Given the description of an element on the screen output the (x, y) to click on. 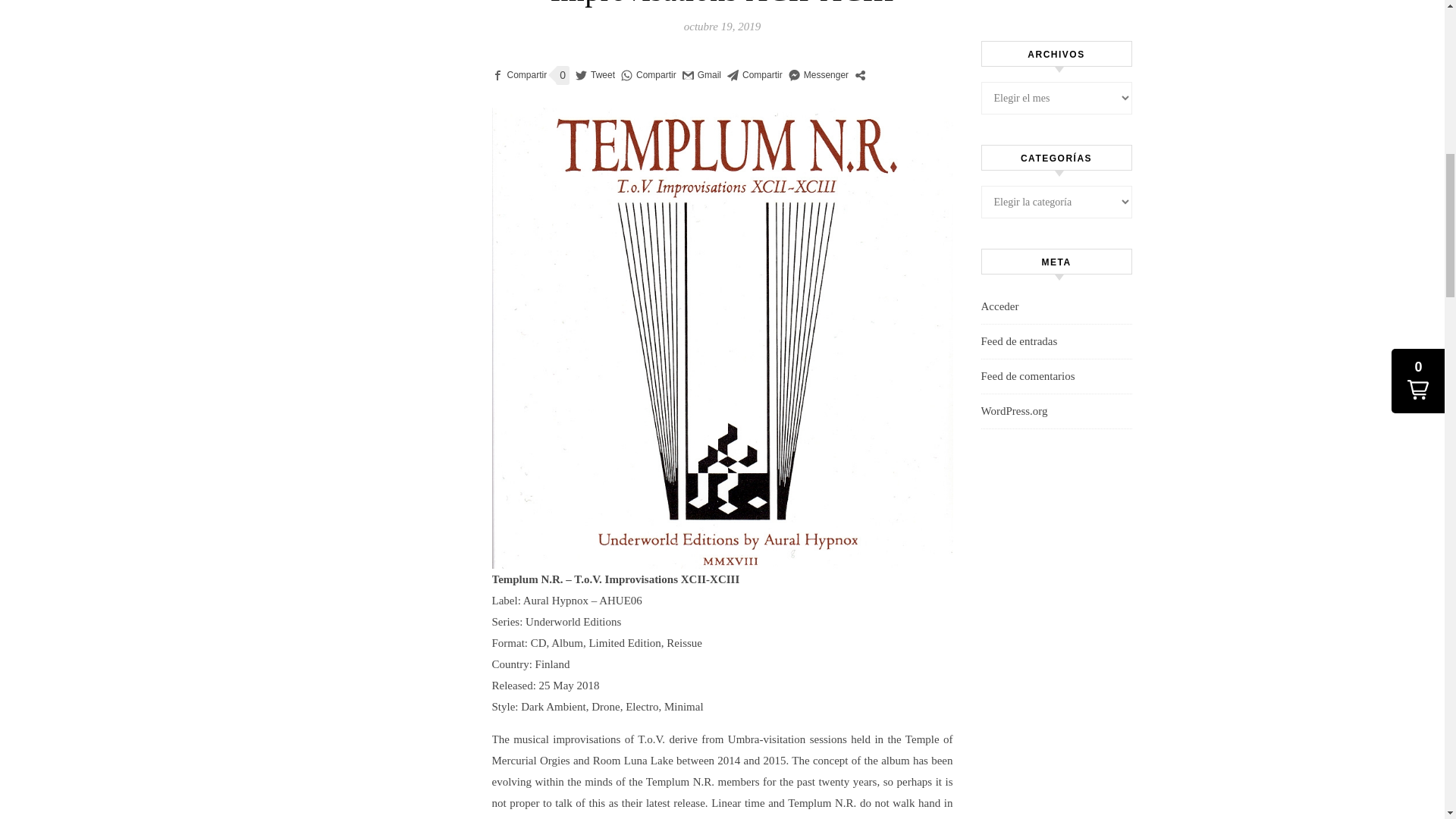
Compartir en Telegram (754, 75)
Enviar via Facebook Messenger (818, 75)
Enviar por Gmail (701, 75)
Compartir en Facebook (519, 75)
modal abre las redes sociales (860, 75)
Tweet (594, 75)
Compartir en WhatsApp (649, 75)
